Given the description of an element on the screen output the (x, y) to click on. 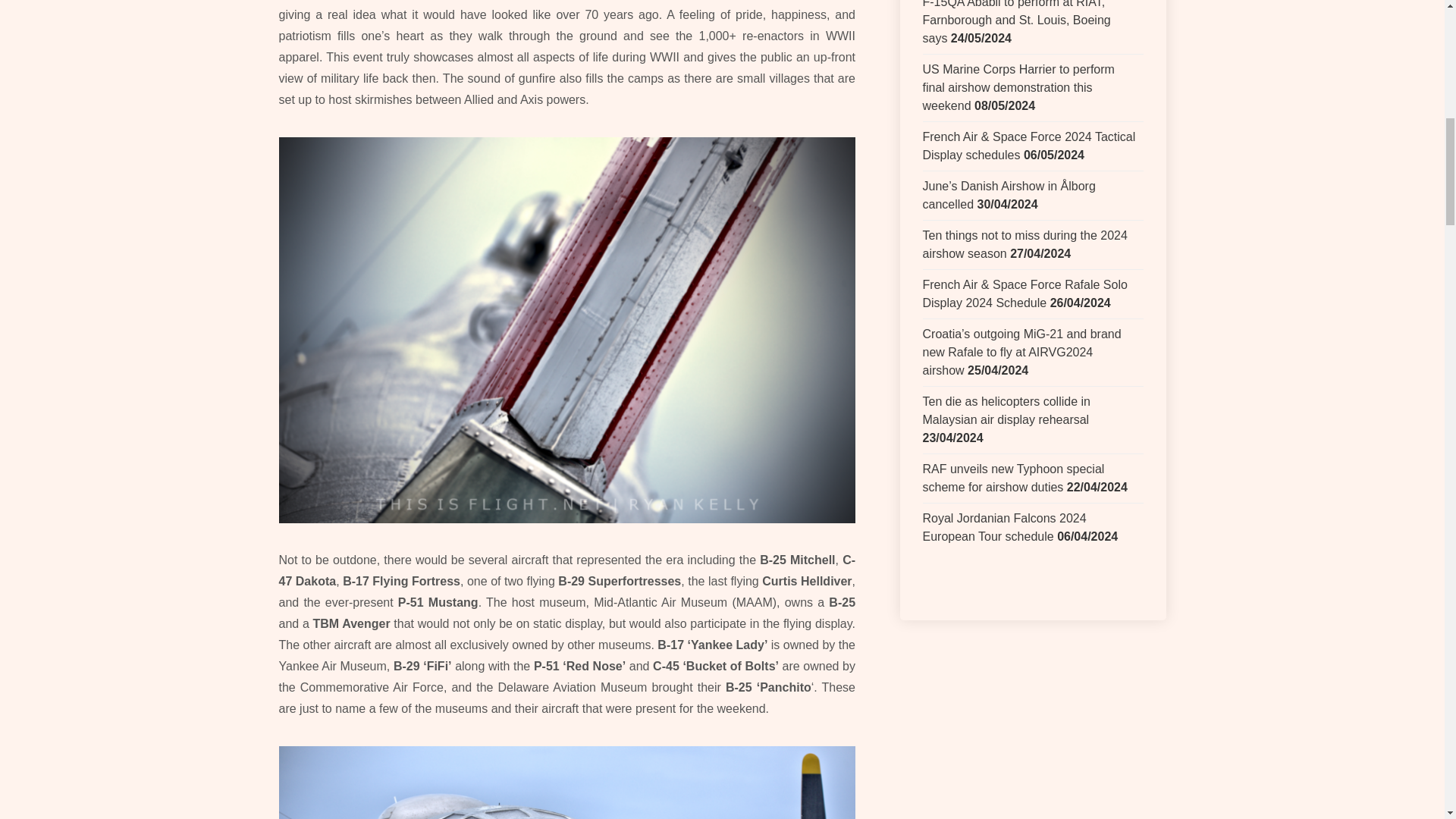
Royal Jordanian Falcons 2024 European Tour schedule (1003, 526)
Ten things not to miss during the 2024 airshow season (1023, 244)
RAF unveils new Typhoon special scheme for airshow duties (1012, 477)
